Given the description of an element on the screen output the (x, y) to click on. 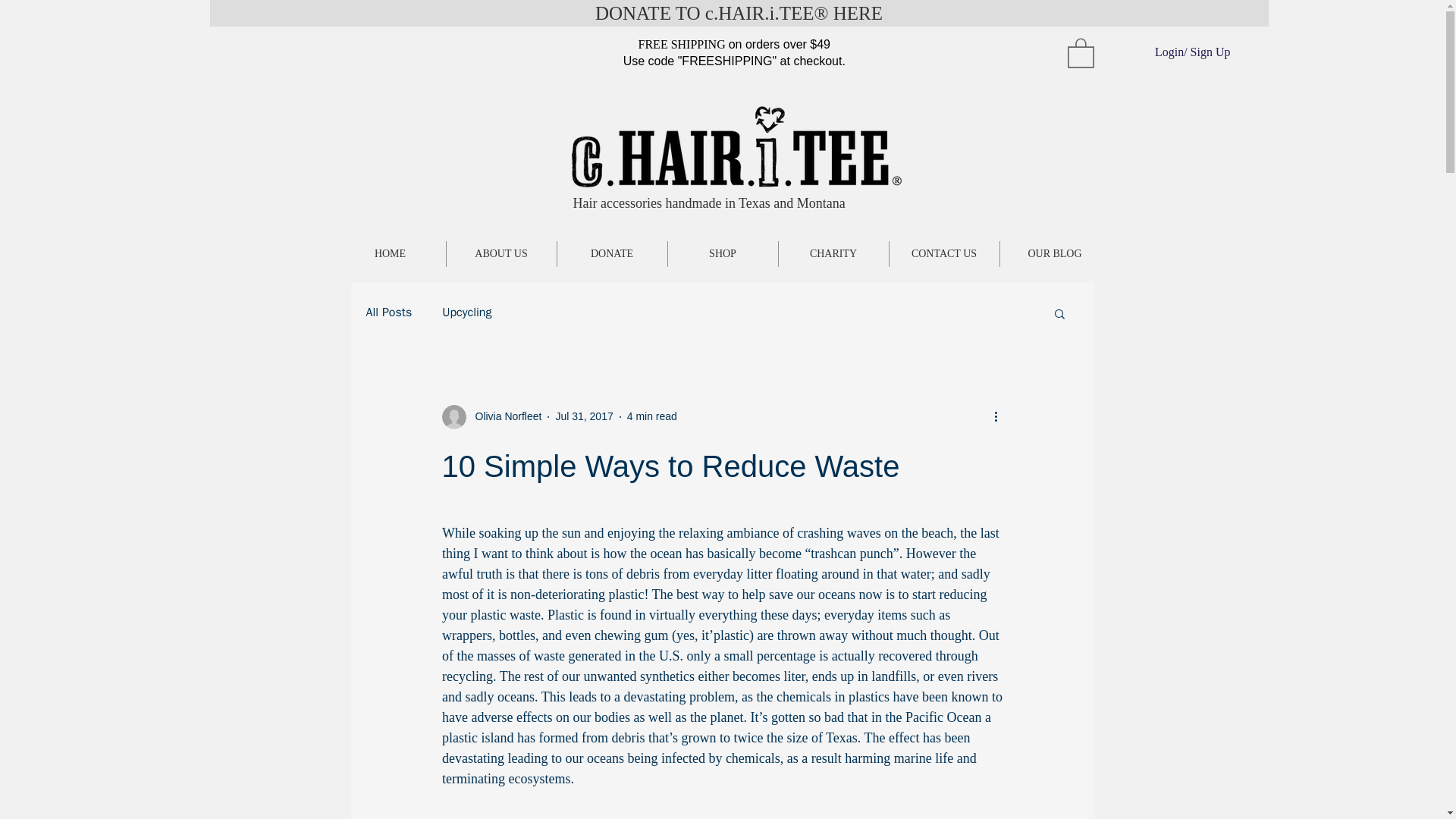
CHARITY (832, 253)
DONATE (611, 253)
SHOP (721, 253)
OUR BLOG (1053, 253)
Olivia Norfleet (491, 416)
4 min read (652, 416)
Upcycling (467, 312)
ABOUT US (500, 253)
HOME (389, 253)
All Posts (388, 312)
Olivia Norfleet (503, 416)
CONTACT US (943, 253)
Jul 31, 2017 (583, 416)
